Given the description of an element on the screen output the (x, y) to click on. 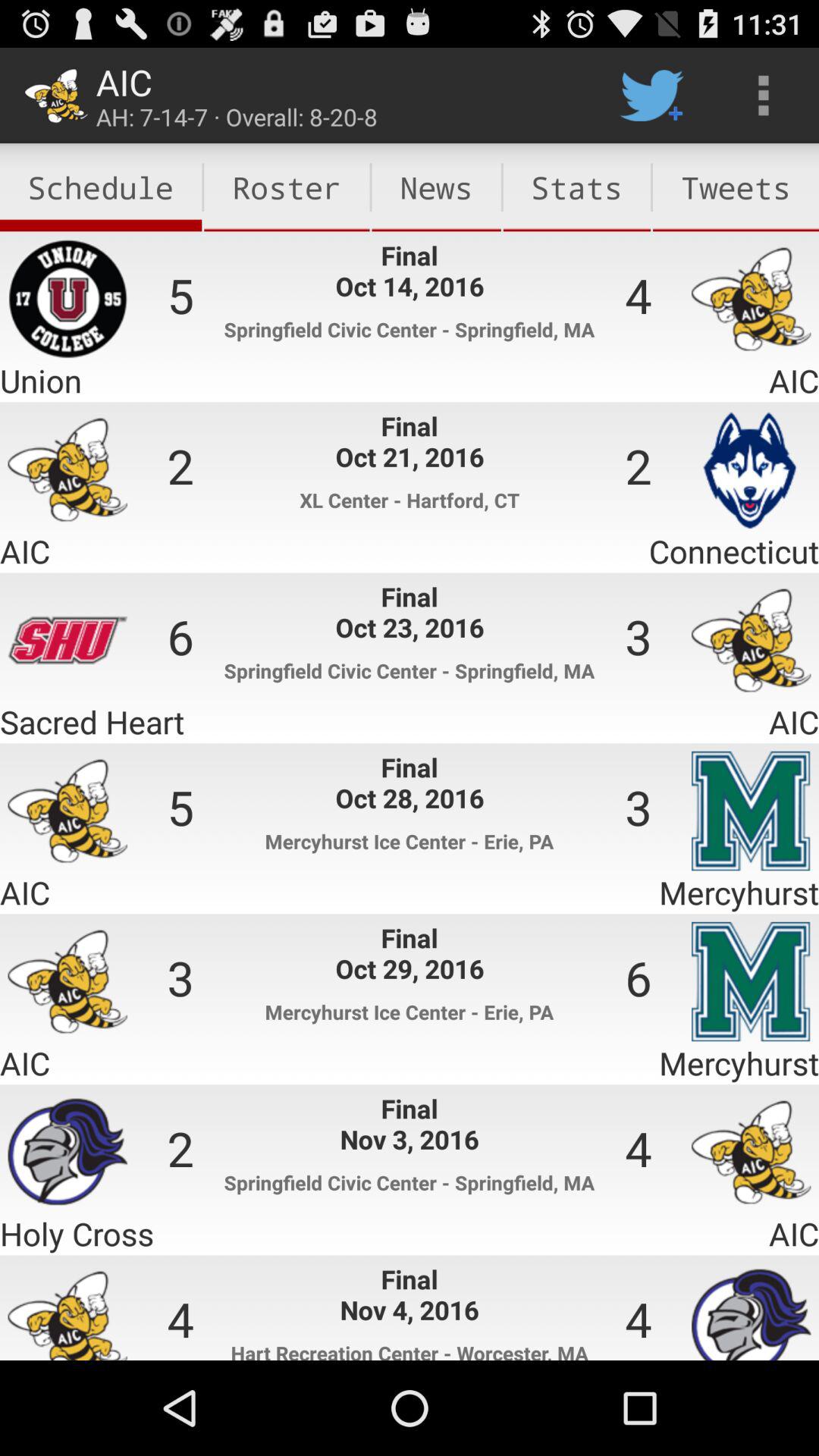
jump to the roster icon (286, 187)
